Given the description of an element on the screen output the (x, y) to click on. 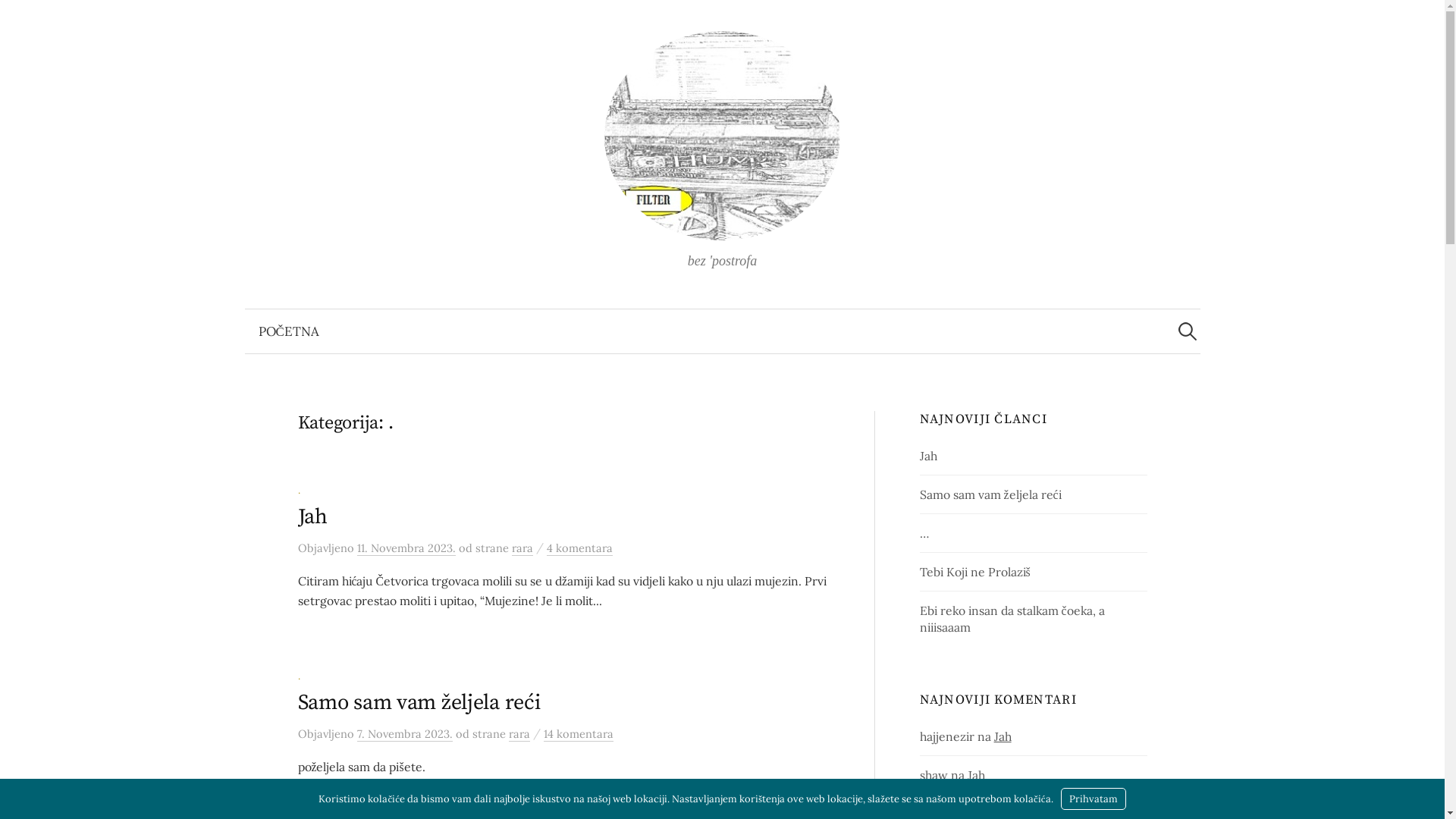
. Element type: text (298, 489)
11. Novembra 2023. Element type: text (405, 547)
Jah Element type: text (1002, 735)
rara Element type: text (521, 547)
Jah Element type: text (976, 774)
Jah Element type: text (311, 516)
Pretraga Element type: text (18, 18)
. Element type: text (298, 675)
Jah Element type: text (928, 455)
Prihvatam Element type: text (1093, 798)
rara Element type: text (518, 733)
4 komentara
za Jah Element type: text (578, 547)
7. Novembra 2023. Element type: text (403, 733)
